Given the description of an element on the screen output the (x, y) to click on. 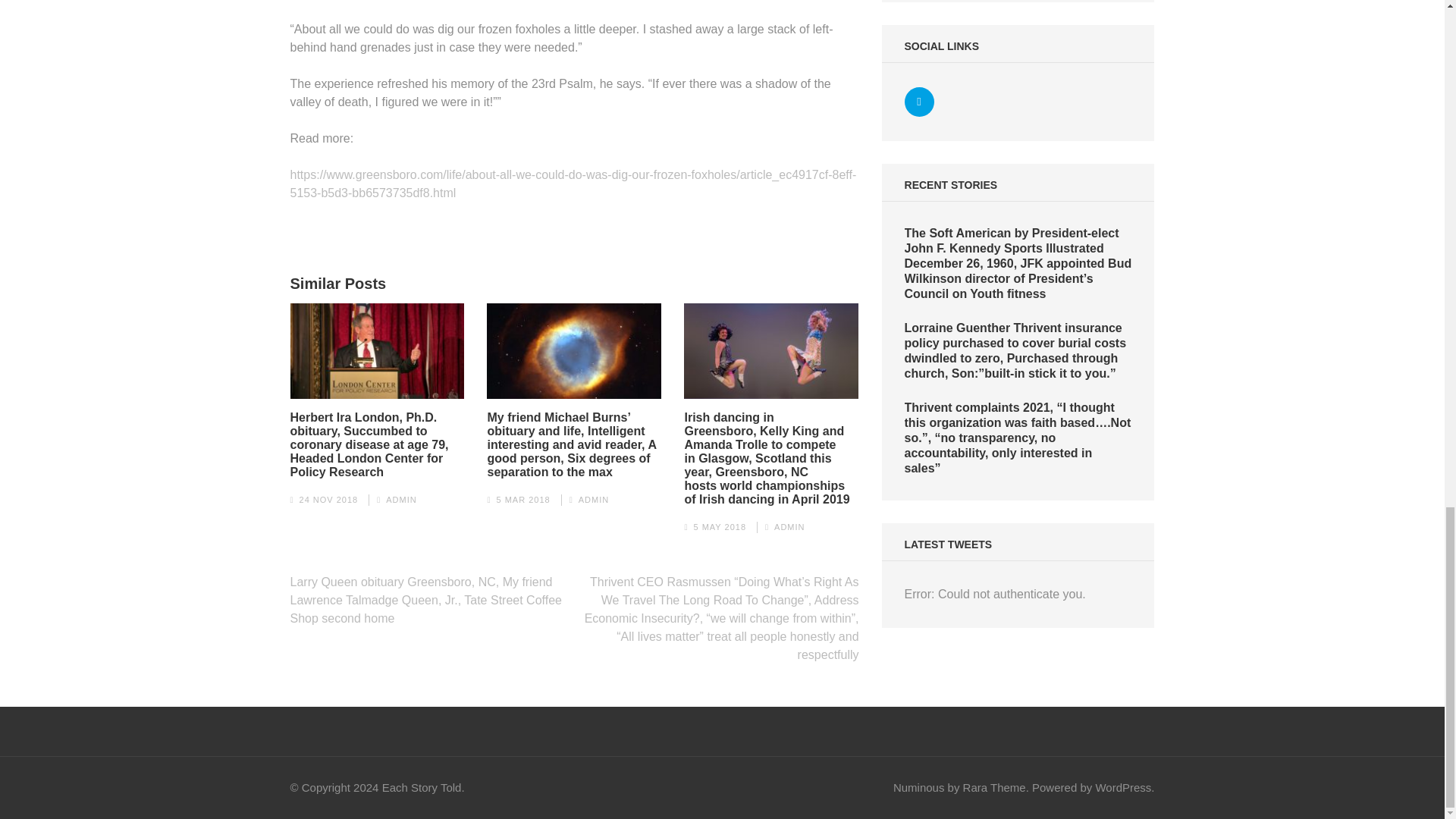
ADMIN (593, 499)
Twitter (919, 101)
Numinous by Rara Theme (959, 787)
WordPress (1122, 787)
5 MAY 2018 (719, 526)
Each Story Told (421, 787)
ADMIN (400, 499)
24 NOV 2018 (328, 499)
